Given the description of an element on the screen output the (x, y) to click on. 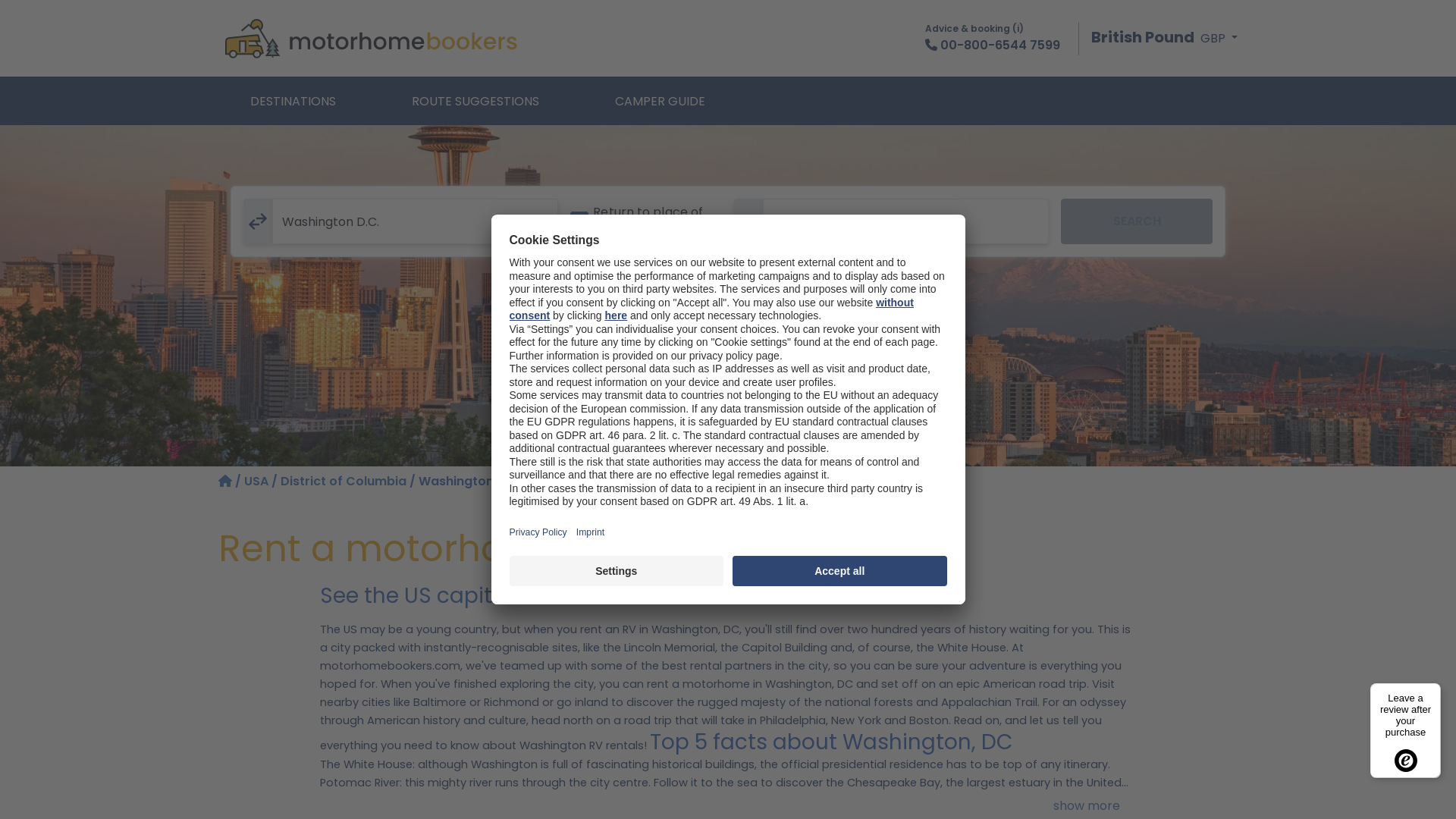
CAMPER GUIDE Element type: text (660, 100)
USA Element type: text (256, 480)
District of Columbia Element type: text (343, 480)
DESTINATIONS Element type: text (292, 100)
ROUTE SUGGESTIONS Element type: text (475, 100)
SEARCH Element type: text (1136, 221)
from
to Element type: text (905, 221)
